Given the description of an element on the screen output the (x, y) to click on. 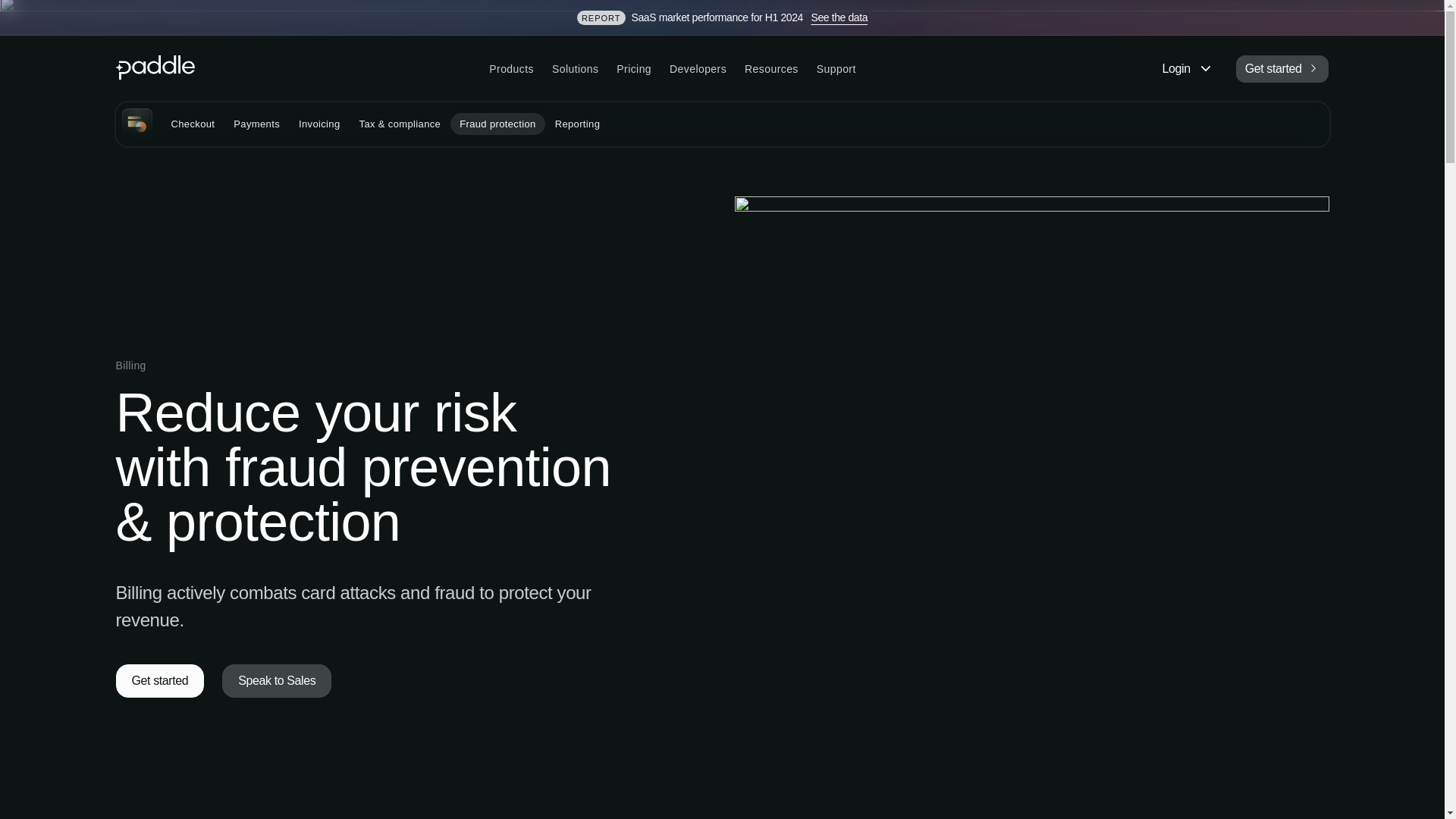
Pricing (634, 69)
See the data (838, 17)
Paddle Billing (135, 123)
See the data (838, 17)
